Given the description of an element on the screen output the (x, y) to click on. 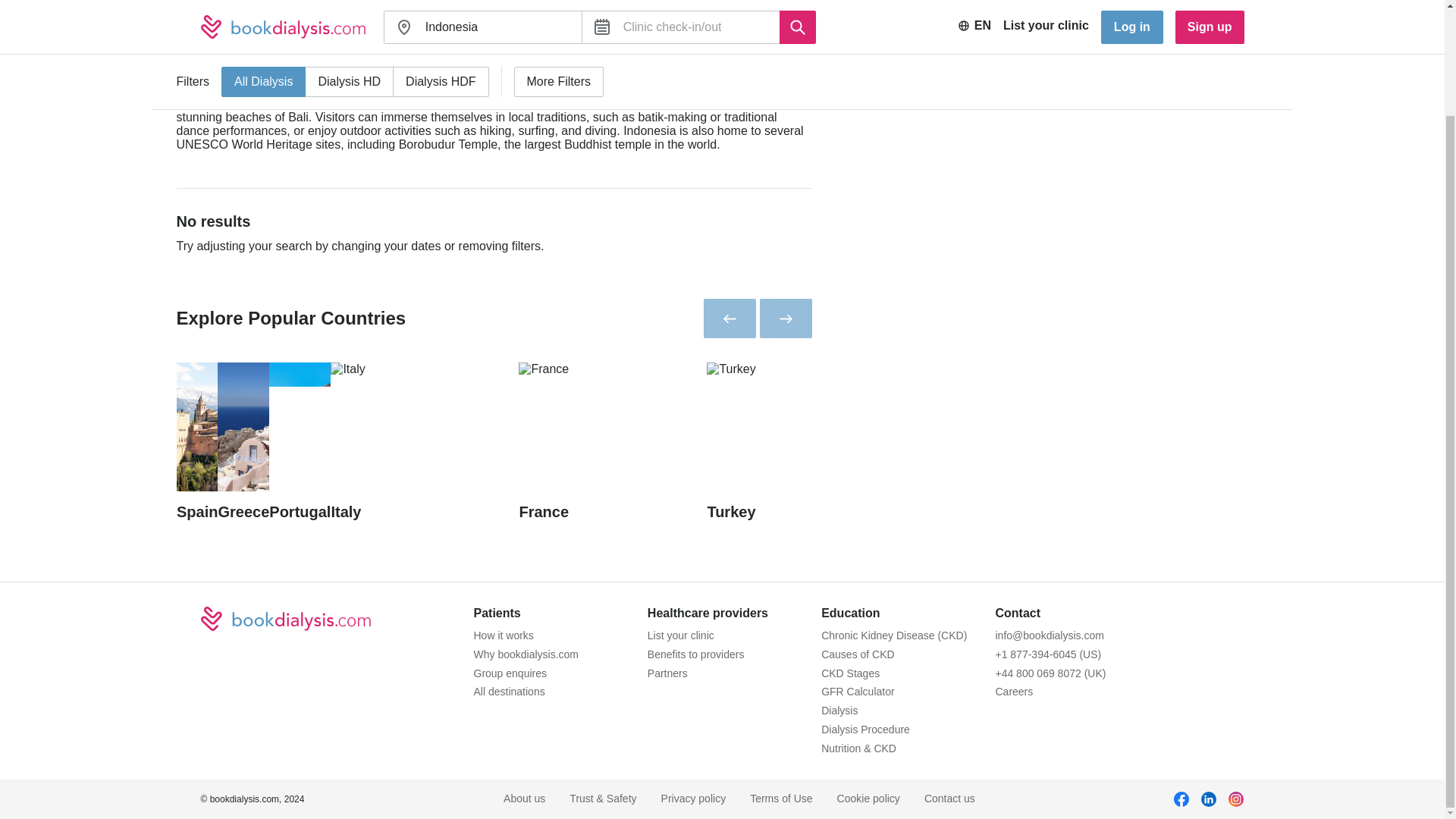
Show Full Map (1121, 23)
France (612, 441)
Home (189, 4)
Turkey (800, 441)
Show List (1230, 23)
Italy (424, 441)
Destinations (248, 4)
